Given the description of an element on the screen output the (x, y) to click on. 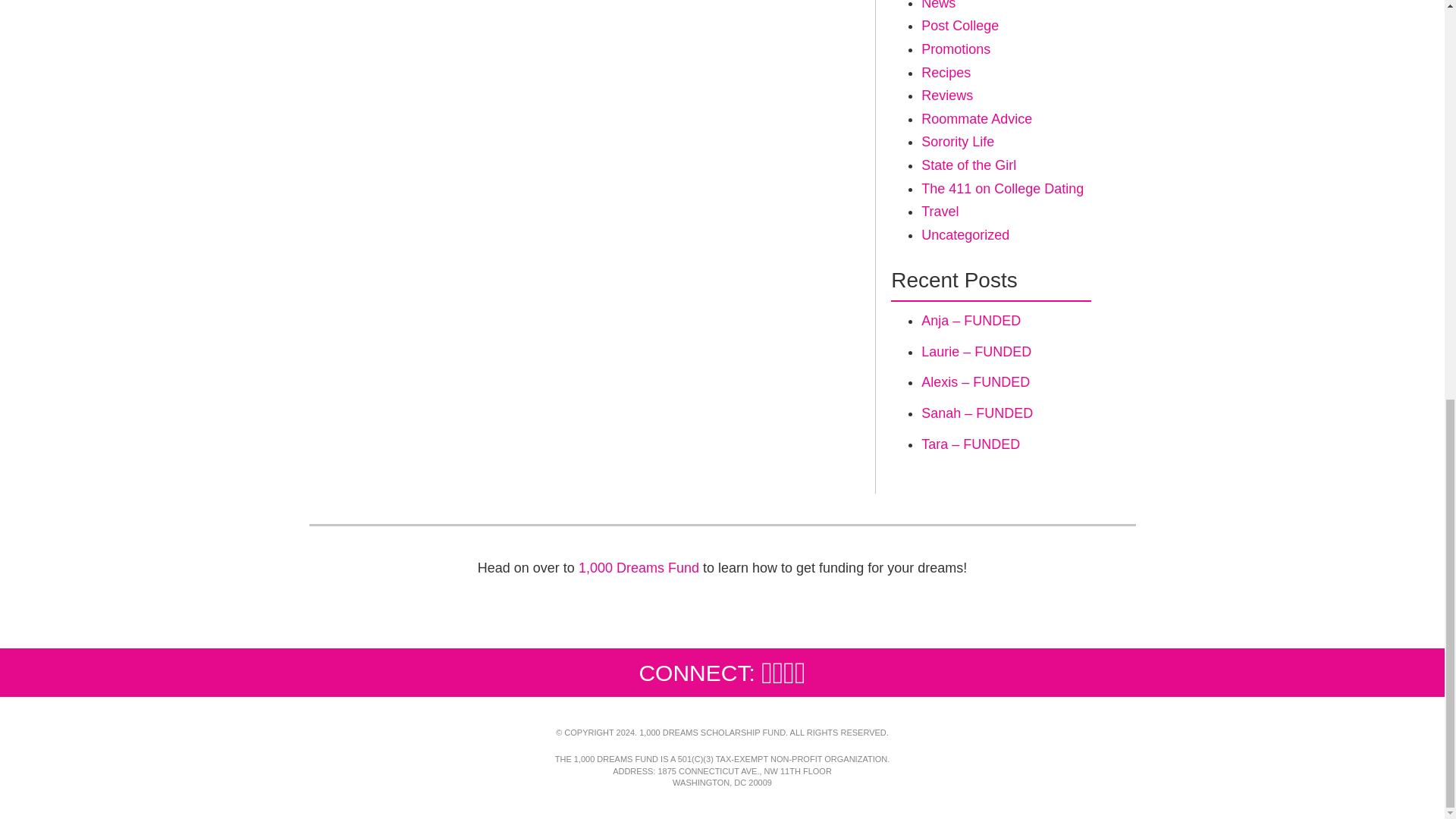
Post College (959, 25)
News (938, 5)
